Given the description of an element on the screen output the (x, y) to click on. 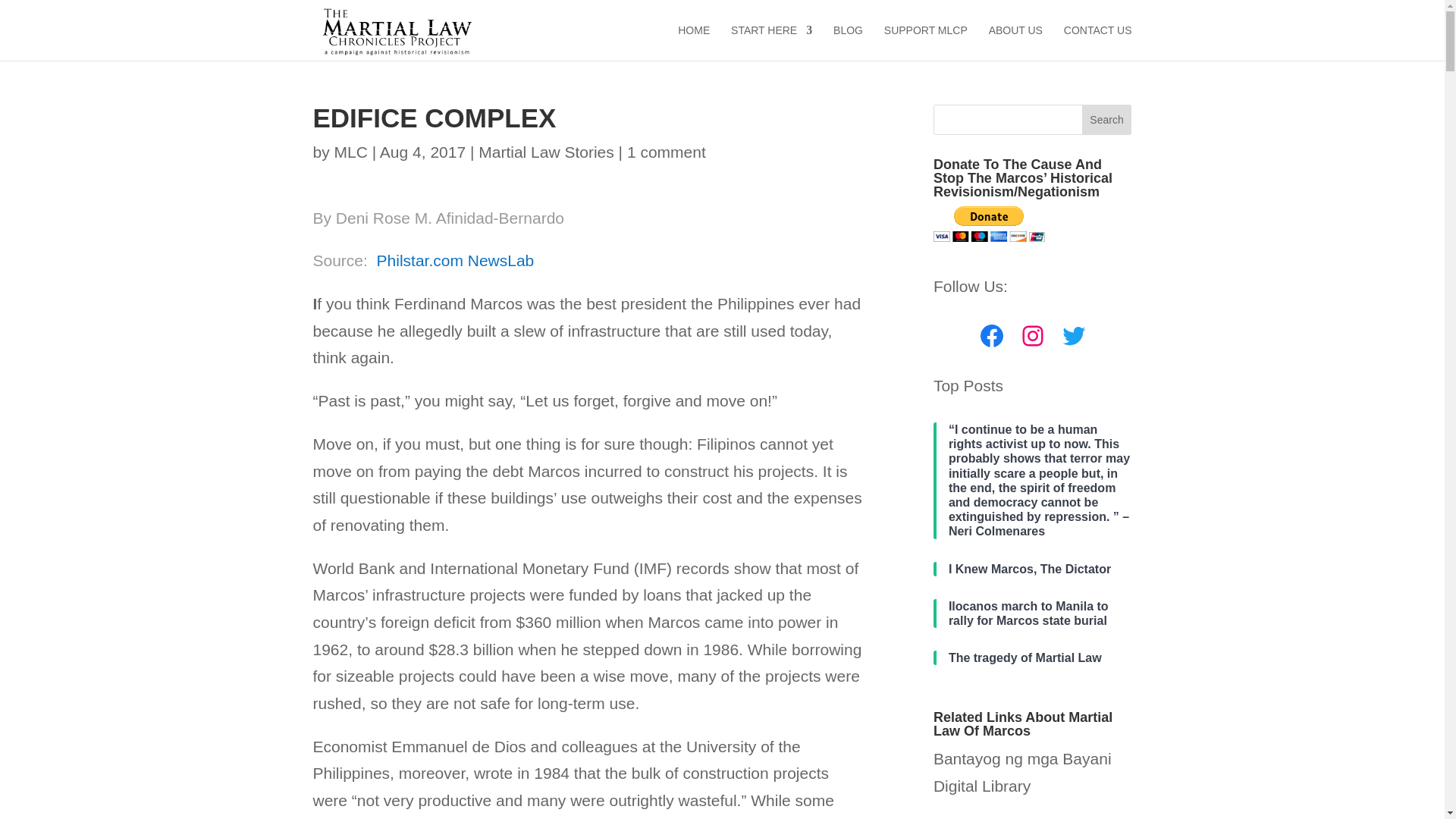
MLC (351, 151)
Search (1106, 119)
Instagram (1032, 335)
Twitter (1073, 335)
HOME (694, 42)
Philstar.com NewsLab (455, 260)
1 comment (666, 151)
Facebook (992, 335)
SUPPORT MLCP (925, 42)
Search (1106, 119)
ABOUT US (1015, 42)
Martial Law Stories (546, 151)
START HERE (771, 42)
CONTACT US (1098, 42)
Posts by MLC (351, 151)
